Given the description of an element on the screen output the (x, y) to click on. 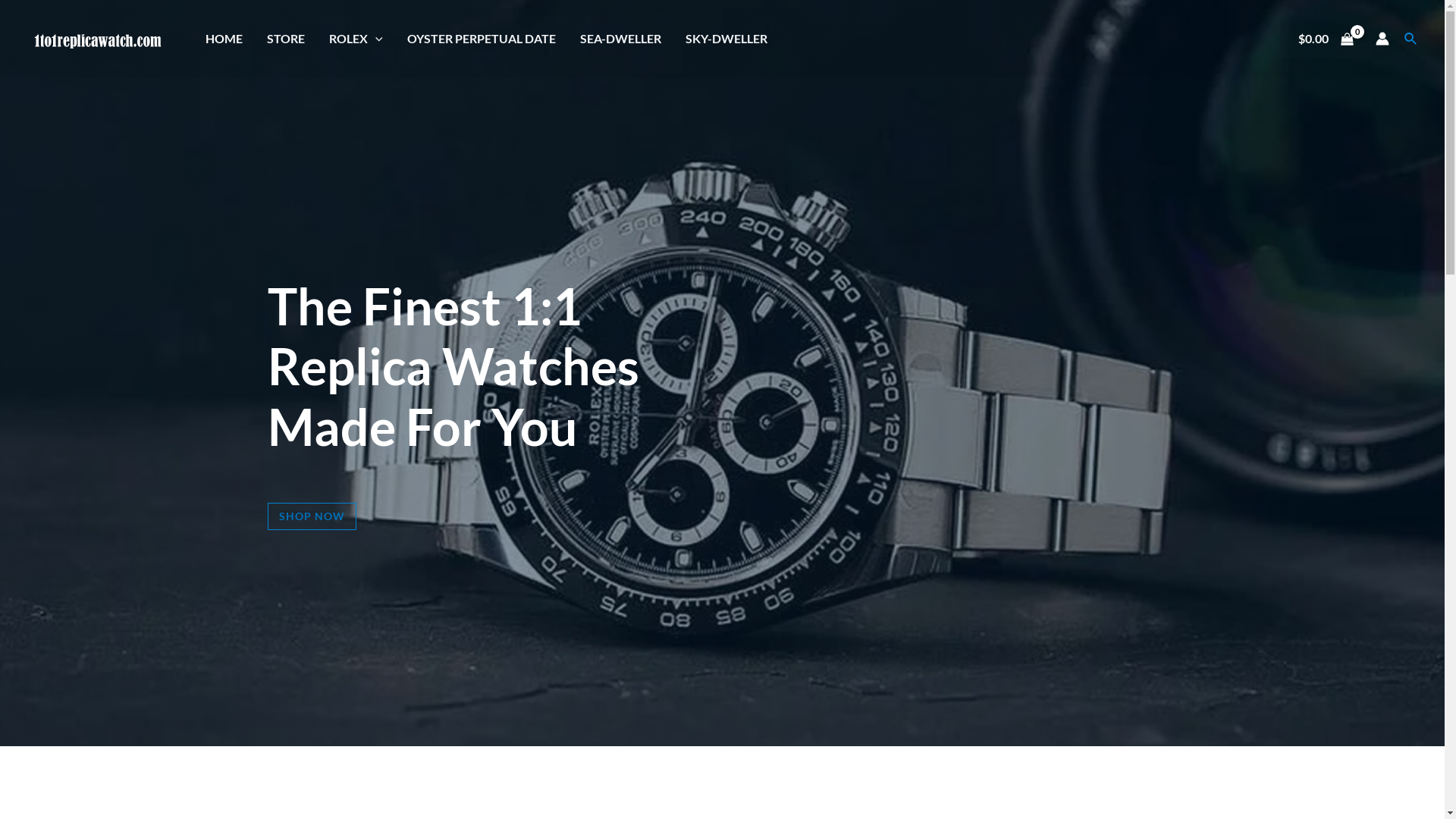
$0.00 Element type: text (1326, 38)
SHOP NOW Element type: text (310, 516)
STORE Element type: text (285, 38)
SKY-DWELLER Element type: text (726, 38)
Search Element type: text (1411, 37)
OYSTER PERPETUAL DATE Element type: text (481, 38)
HOME Element type: text (223, 38)
ROLEX Element type: text (355, 38)
SEA-DWELLER Element type: text (620, 38)
